Given the description of an element on the screen output the (x, y) to click on. 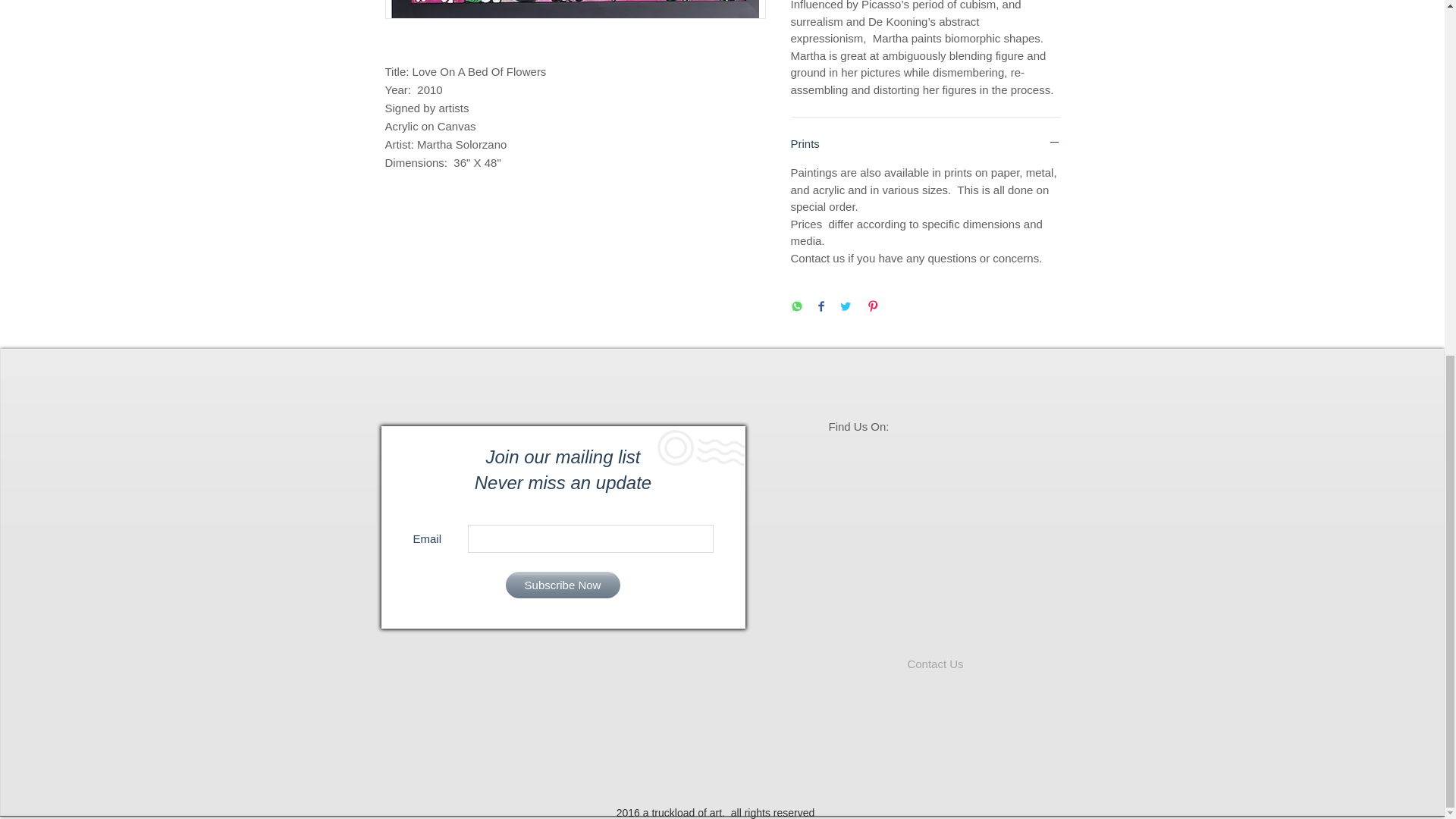
Prints (924, 143)
